Given the description of an element on the screen output the (x, y) to click on. 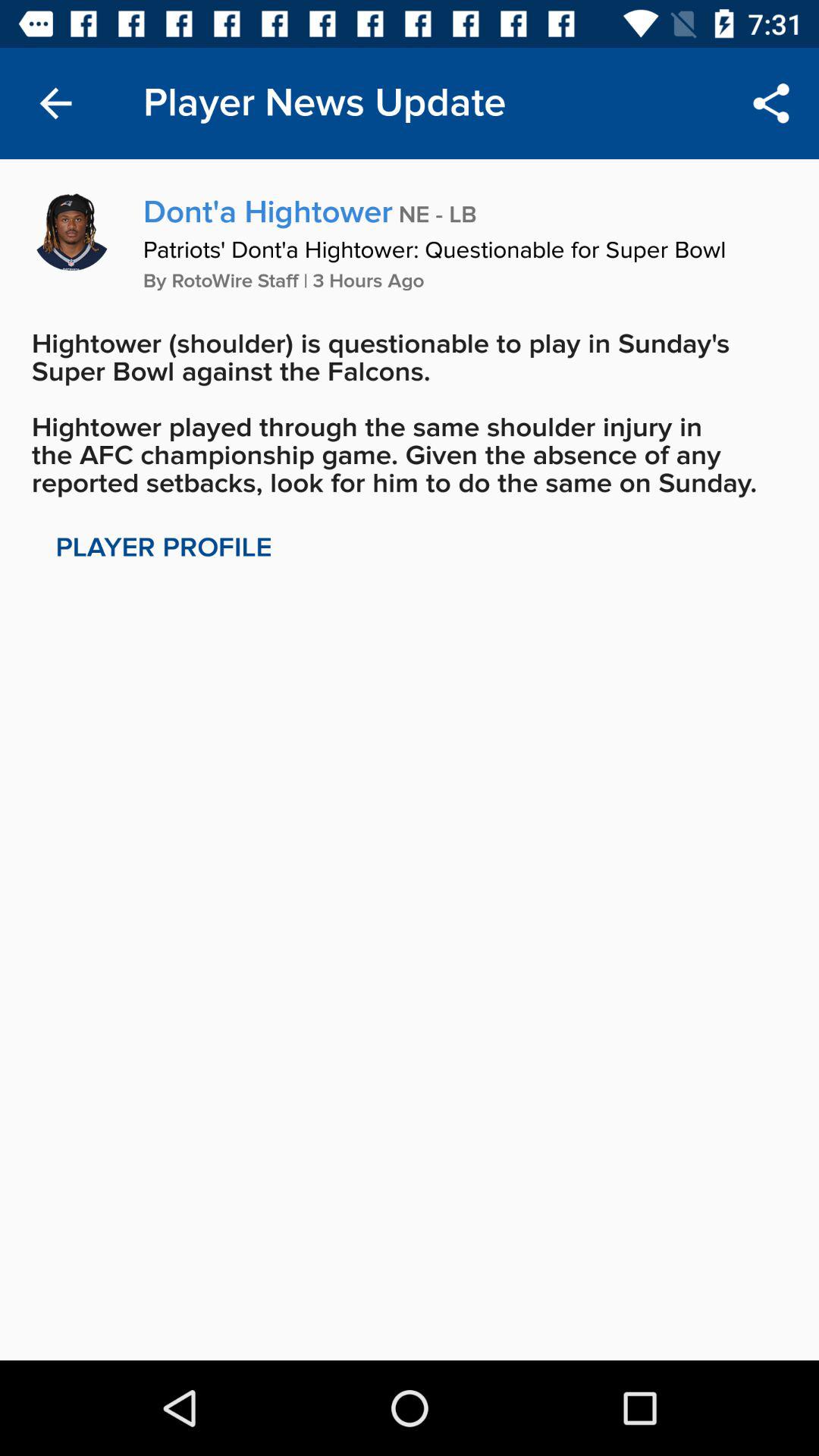
turn off the player profile icon (163, 547)
